Given the description of an element on the screen output the (x, y) to click on. 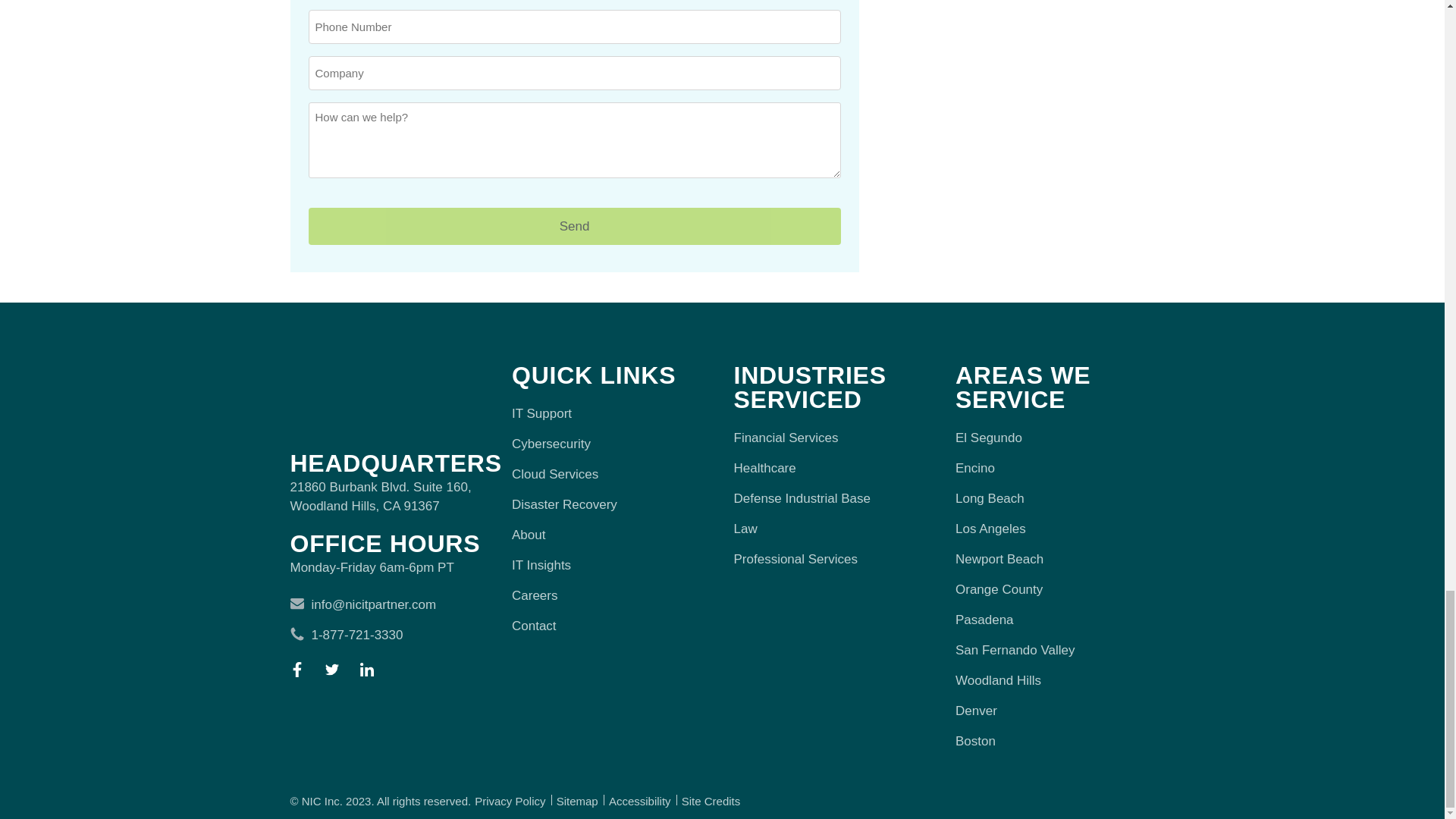
Send (573, 225)
